Given the description of an element on the screen output the (x, y) to click on. 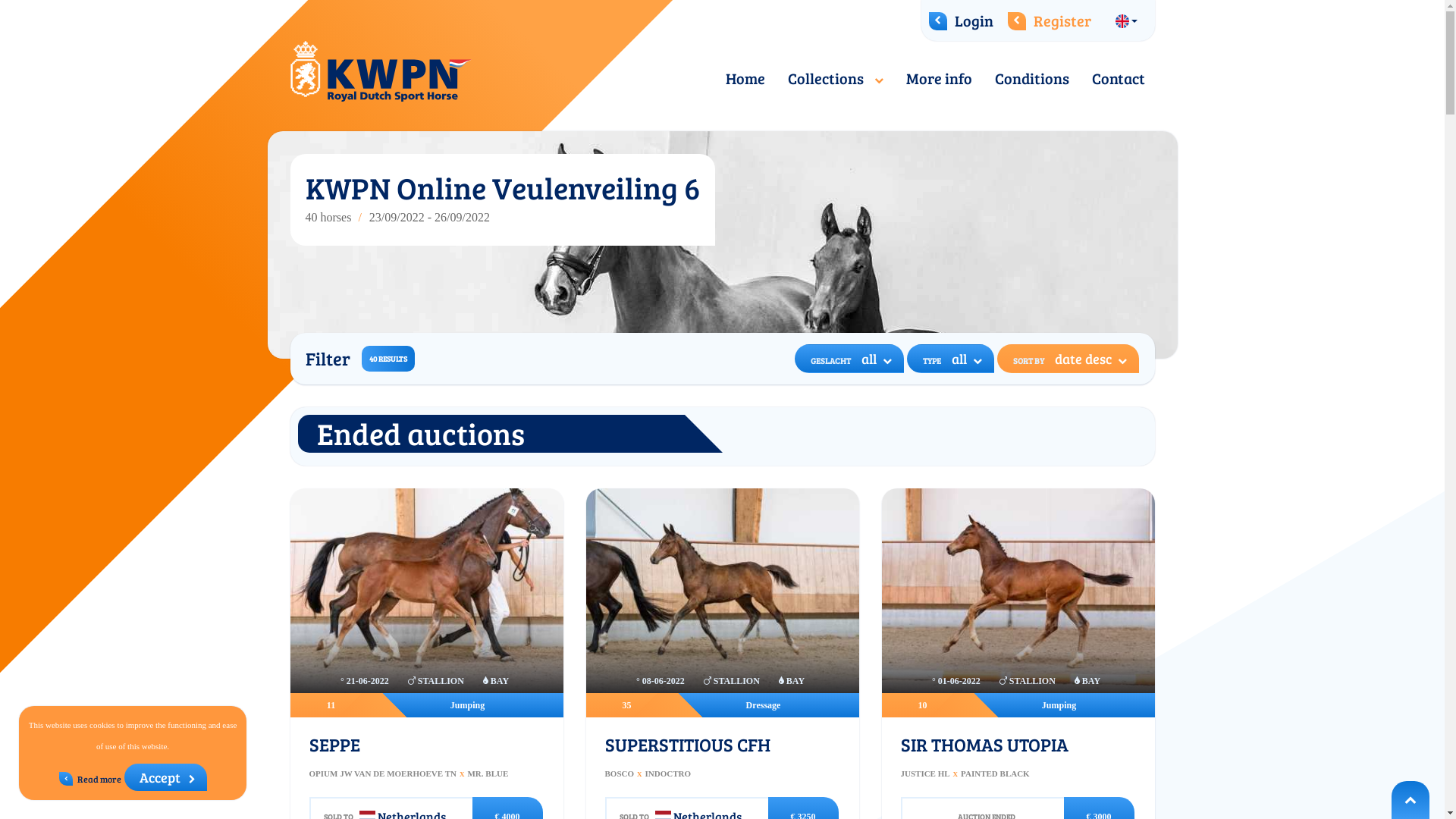
Collections Element type: text (835, 78)
Login Element type: text (960, 20)
More info Element type: text (939, 78)
SORT BY date desc Element type: text (1068, 358)
Accept Element type: text (165, 776)
Home Element type: text (745, 78)
Ga naar de homepage Element type: hover (380, 70)
Conditions Element type: text (1031, 78)
Read more Element type: text (90, 780)
TYPE all Element type: text (950, 358)
Contact Element type: text (1117, 78)
GESLACHT all Element type: text (848, 358)
Register Element type: text (1048, 20)
